Given the description of an element on the screen output the (x, y) to click on. 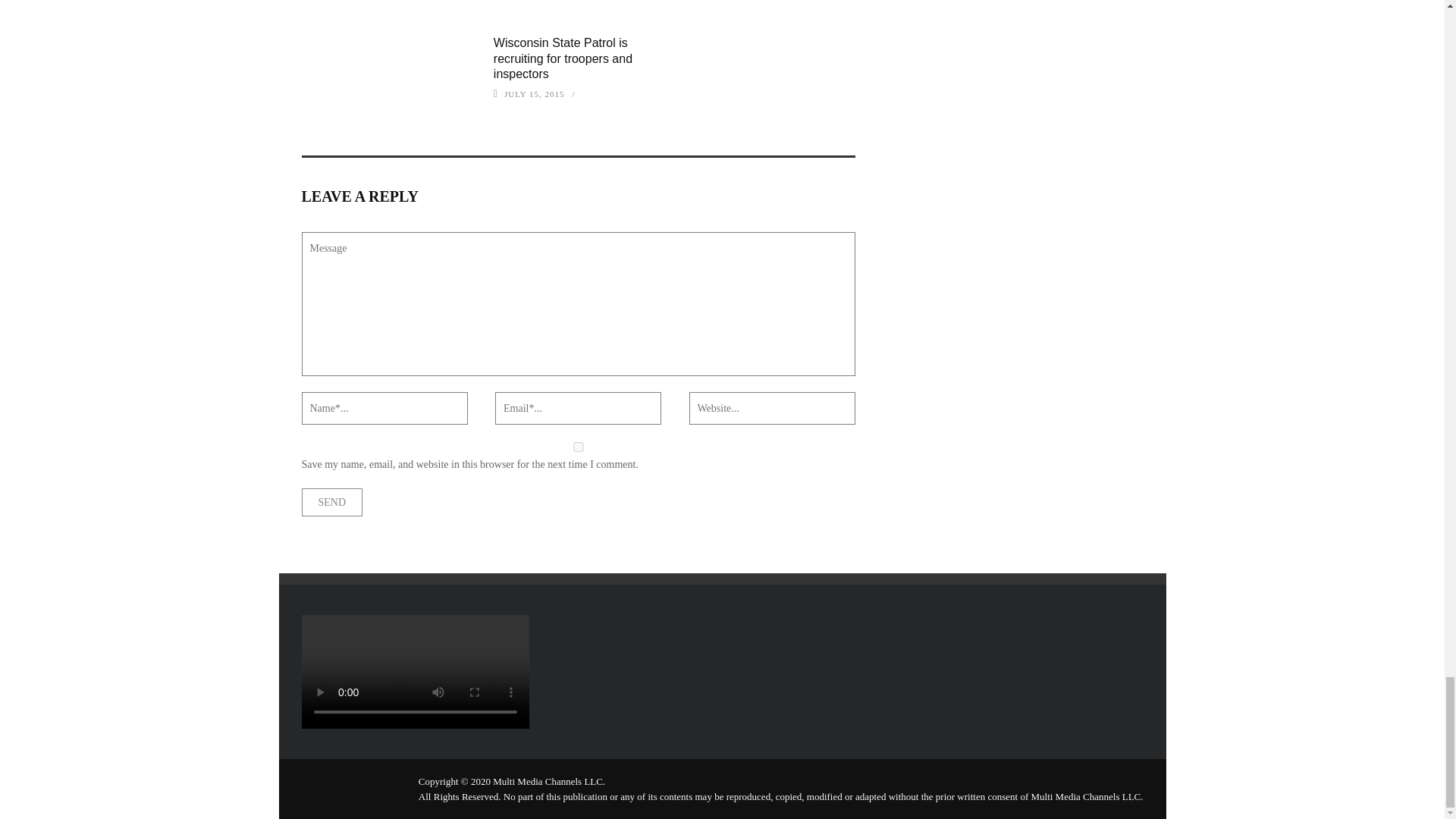
Send (331, 502)
yes (578, 447)
